Given the description of an element on the screen output the (x, y) to click on. 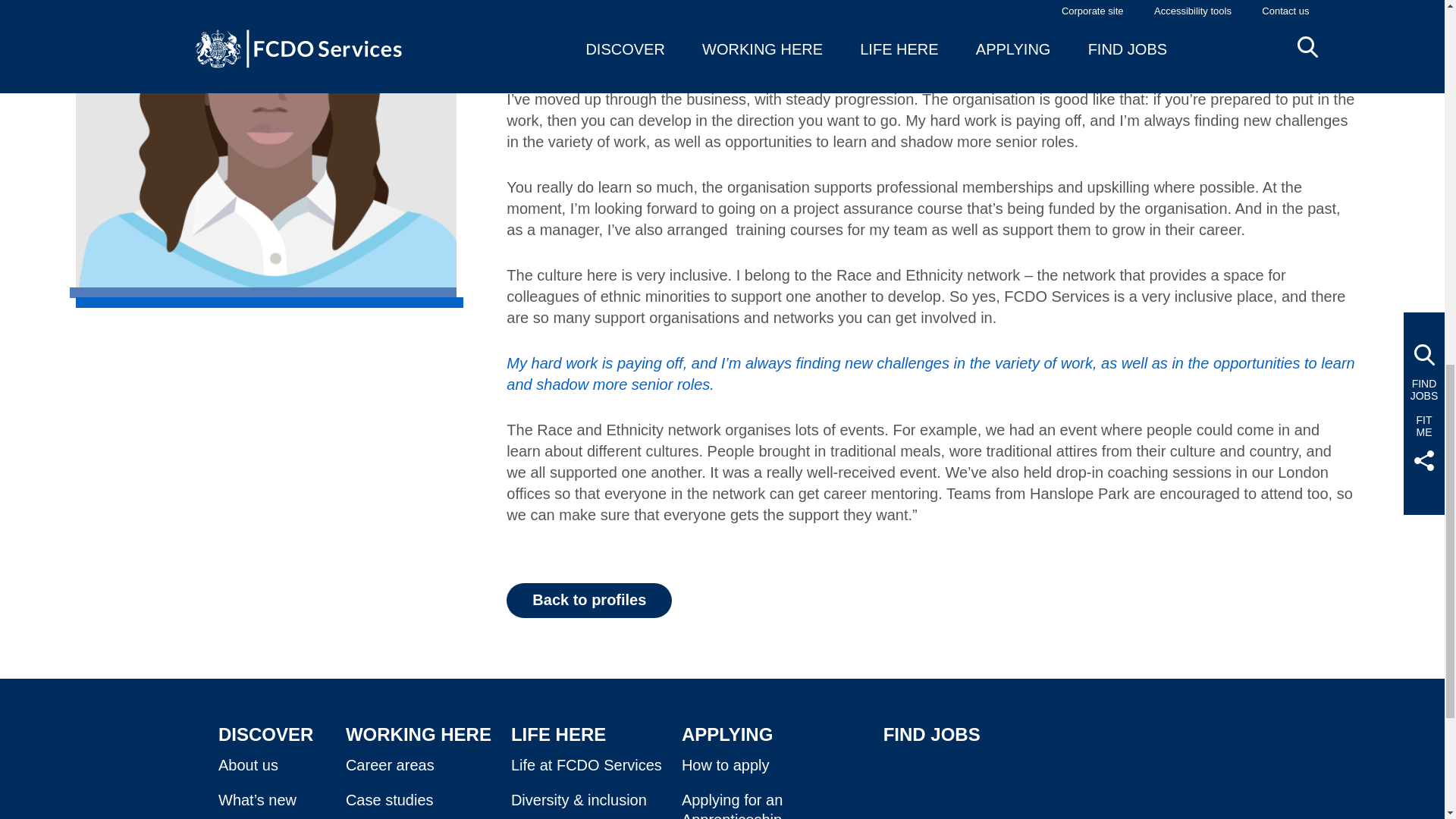
Back to profiles (588, 600)
